Given the description of an element on the screen output the (x, y) to click on. 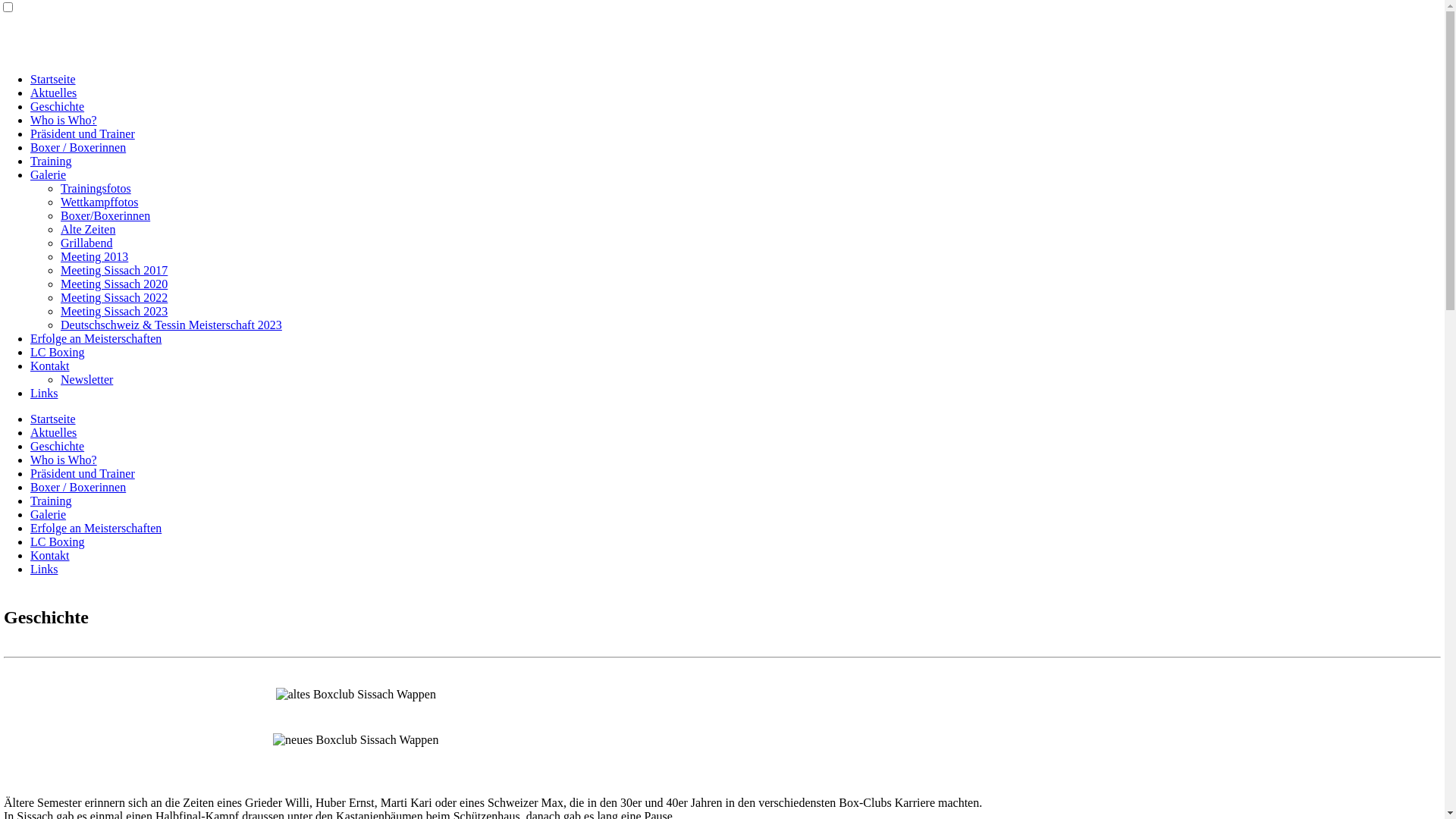
Links Element type: text (43, 392)
Erfolge an Meisterschaften Element type: text (95, 338)
Alte Zeiten Element type: text (87, 228)
Meeting Sissach 2023 Element type: text (113, 310)
Aktuelles Element type: text (53, 432)
Aktuelles Element type: text (53, 92)
LC Boxing Element type: text (57, 541)
Grillabend Element type: text (86, 242)
Meeting 2013 Element type: text (94, 256)
Deutschschweiz & Tessin Meisterschaft 2023 Element type: text (171, 324)
Galerie Element type: text (47, 514)
Who is Who? Element type: text (63, 119)
Meeting Sissach 2022 Element type: text (113, 297)
Trainingsfotos Element type: text (95, 188)
Erfolge an Meisterschaften Element type: text (95, 527)
Geschichte Element type: text (57, 106)
Training Element type: text (51, 160)
Meeting Sissach 2020 Element type: text (113, 283)
Kontakt Element type: text (49, 555)
Geschichte Element type: text (57, 445)
Newsletter Element type: text (86, 379)
Startseite Element type: text (52, 418)
Links Element type: text (43, 568)
Boxer / Boxerinnen Element type: text (77, 147)
Startseite Element type: text (52, 78)
Wettkampffotos Element type: text (99, 201)
LC Boxing Element type: text (57, 351)
Galerie Element type: text (47, 174)
Who is Who? Element type: text (63, 459)
Kontakt Element type: text (49, 365)
Meeting Sissach 2017 Element type: text (113, 269)
Training Element type: text (51, 500)
Boxer / Boxerinnen Element type: text (77, 486)
Boxer/Boxerinnen Element type: text (105, 215)
